Given the description of an element on the screen output the (x, y) to click on. 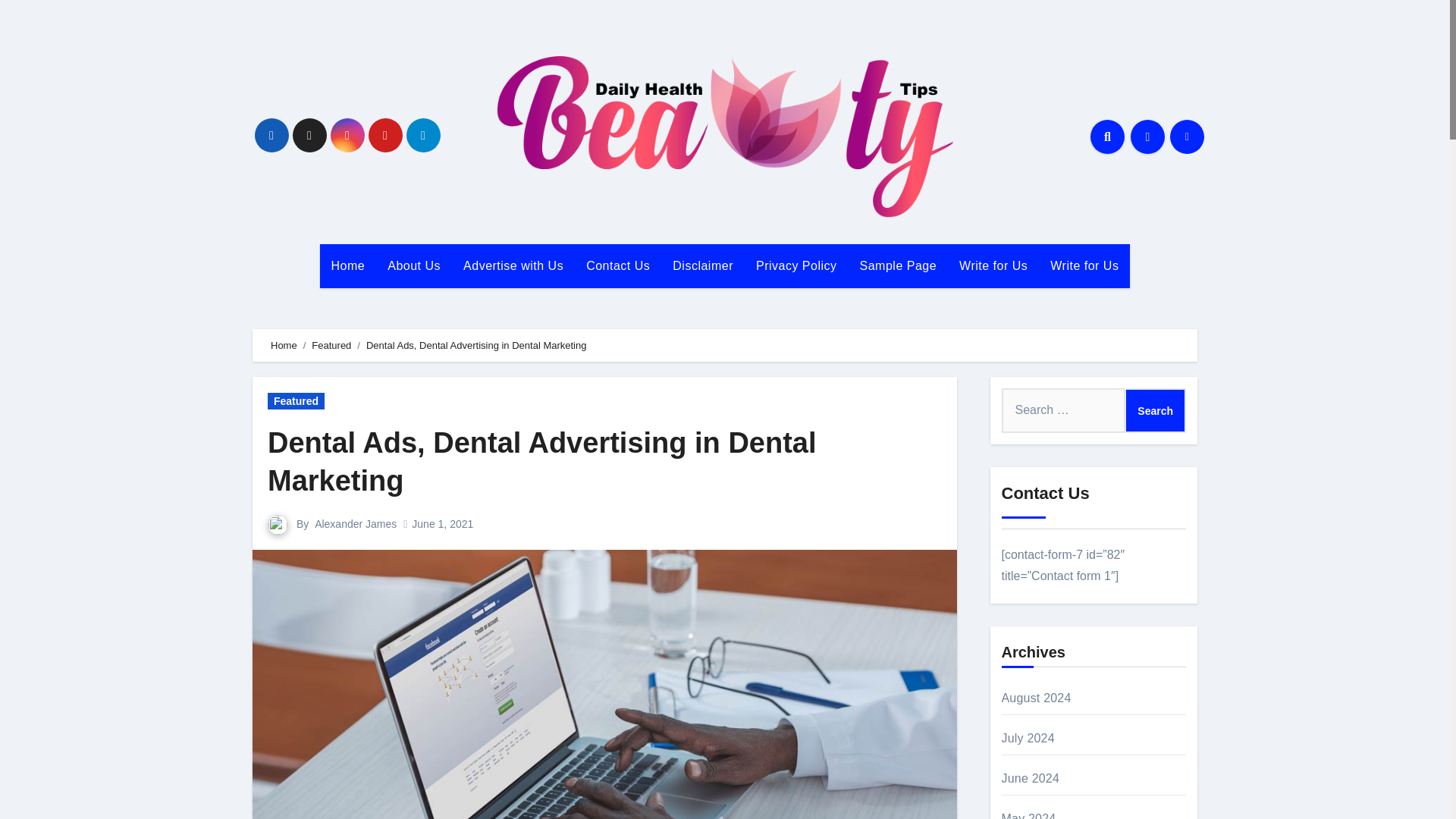
Home (348, 266)
Home (283, 345)
Dental Ads, Dental Advertising in Dental Marketing (541, 461)
Privacy Policy (796, 266)
Contact Us (618, 266)
Featured (295, 401)
June 1, 2021 (442, 523)
Disclaimer (702, 266)
Featured (330, 345)
